Given the description of an element on the screen output the (x, y) to click on. 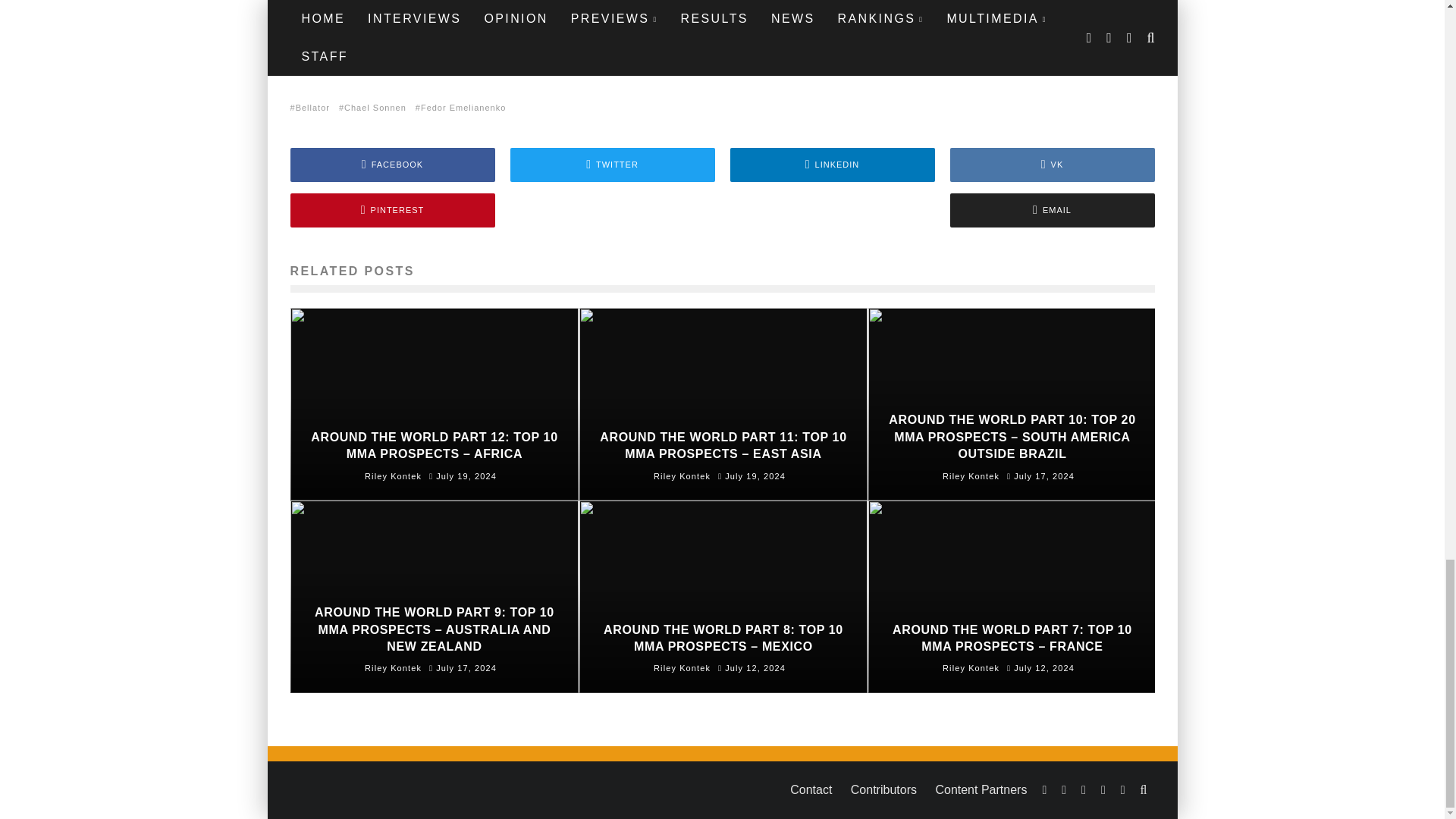
Posts by Riley Kontek (970, 667)
Posts by Riley Kontek (393, 667)
Posts by Riley Kontek (970, 475)
Posts by Riley Kontek (681, 667)
Posts by Riley Kontek (393, 475)
Posts by Riley Kontek (681, 475)
